Given the description of an element on the screen output the (x, y) to click on. 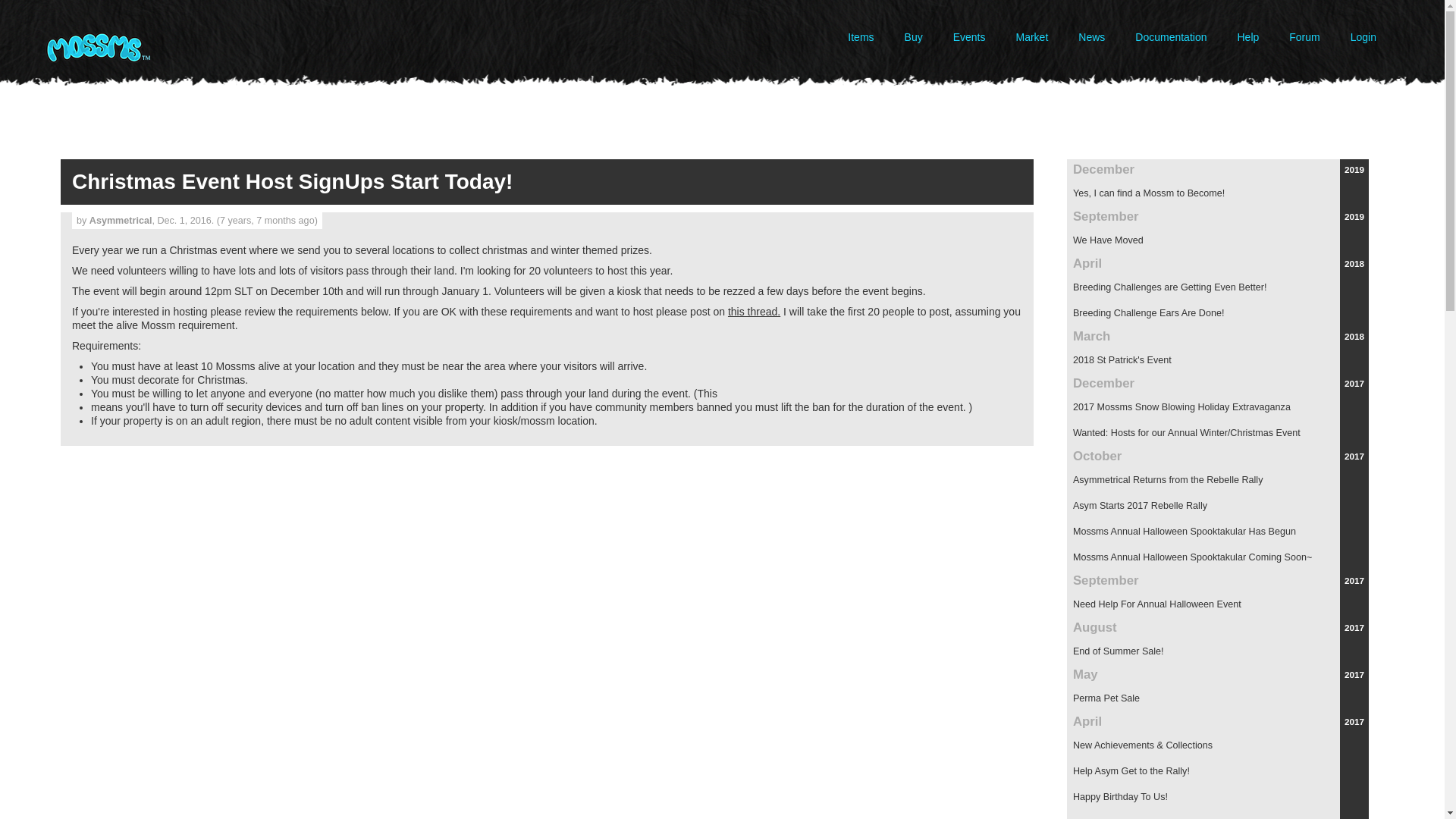
Help (1247, 37)
2018 St Patrick's Event (1217, 360)
Happy Birthday To Us! (1217, 796)
Breeding Challenges are Getting Even Better! (1217, 287)
this thread. (754, 310)
Mossms Annual Halloween Spooktakular Has Begun (1217, 531)
Market (1032, 37)
Need Help For Annual Halloween Event (1217, 604)
Mossms Easter Egg Hunt (1217, 814)
Yes, I can find a Mossm to Become! (1217, 193)
Perma Pet Sale (1217, 698)
Asymmetrical Returns from the Rebelle Rally (1217, 479)
Buy (913, 37)
2017 Mossms Snow Blowing Holiday Extravaganza (1217, 406)
Breeding Challenge Ears Are Done! (1217, 312)
